Given the description of an element on the screen output the (x, y) to click on. 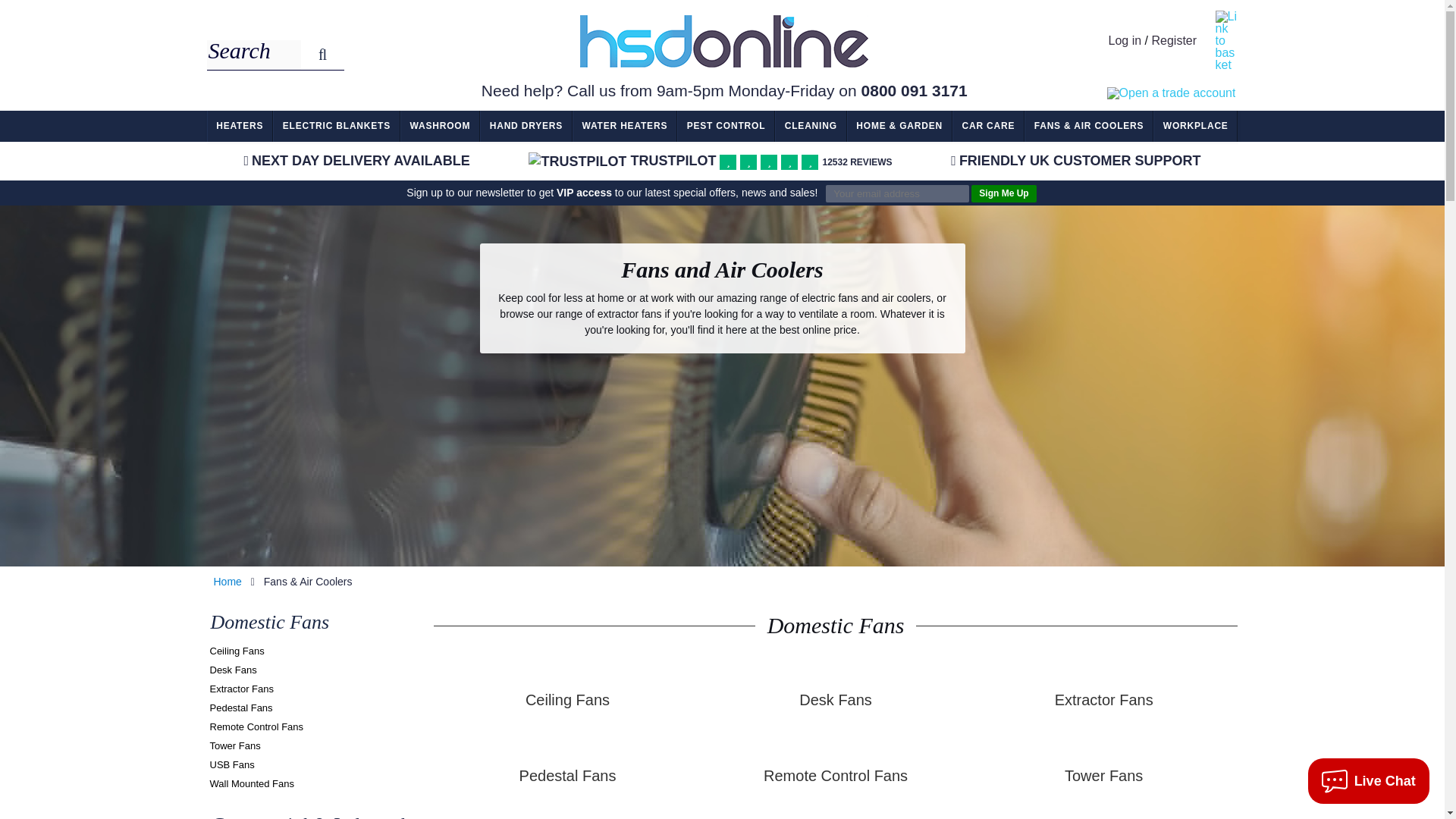
Home (227, 581)
Open a trade account (1172, 92)
Trustpilot (577, 161)
HEATERS (239, 126)
Sign Me Up (1003, 193)
Pedestal Fans (240, 707)
Register (1173, 40)
USB Fans (231, 764)
Ceiling Fans (236, 650)
